Given the description of an element on the screen output the (x, y) to click on. 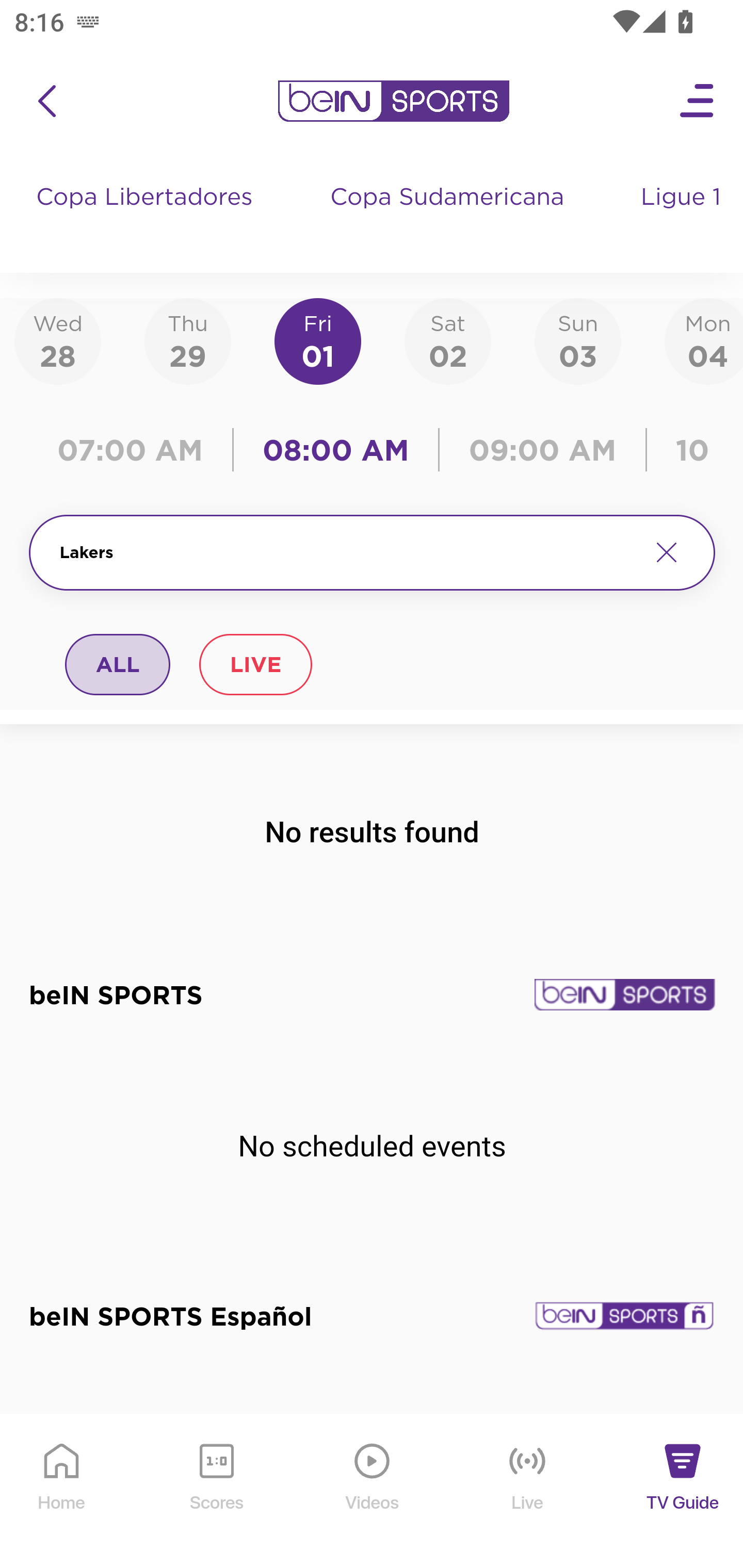
en-us?platform=mobile_android bein logo (392, 101)
icon back (46, 101)
Open Menu Icon (697, 101)
Copa Libertadores (146, 216)
Copa Sudamericana (448, 216)
Ligue 1 (682, 216)
Wed28 (58, 340)
Thu29 (187, 340)
Fri01 (318, 340)
Sat02 (447, 340)
Sun03 (578, 340)
Mon04 (703, 340)
07:00 AM (135, 449)
08:00 AM (336, 449)
09:00 AM (542, 449)
Lakers (346, 552)
ALL (118, 663)
LIVE (255, 663)
Home Home Icon Home (61, 1491)
Scores Scores Icon Scores (216, 1491)
Videos Videos Icon Videos (372, 1491)
TV Guide TV Guide Icon TV Guide (682, 1491)
